Given the description of an element on the screen output the (x, y) to click on. 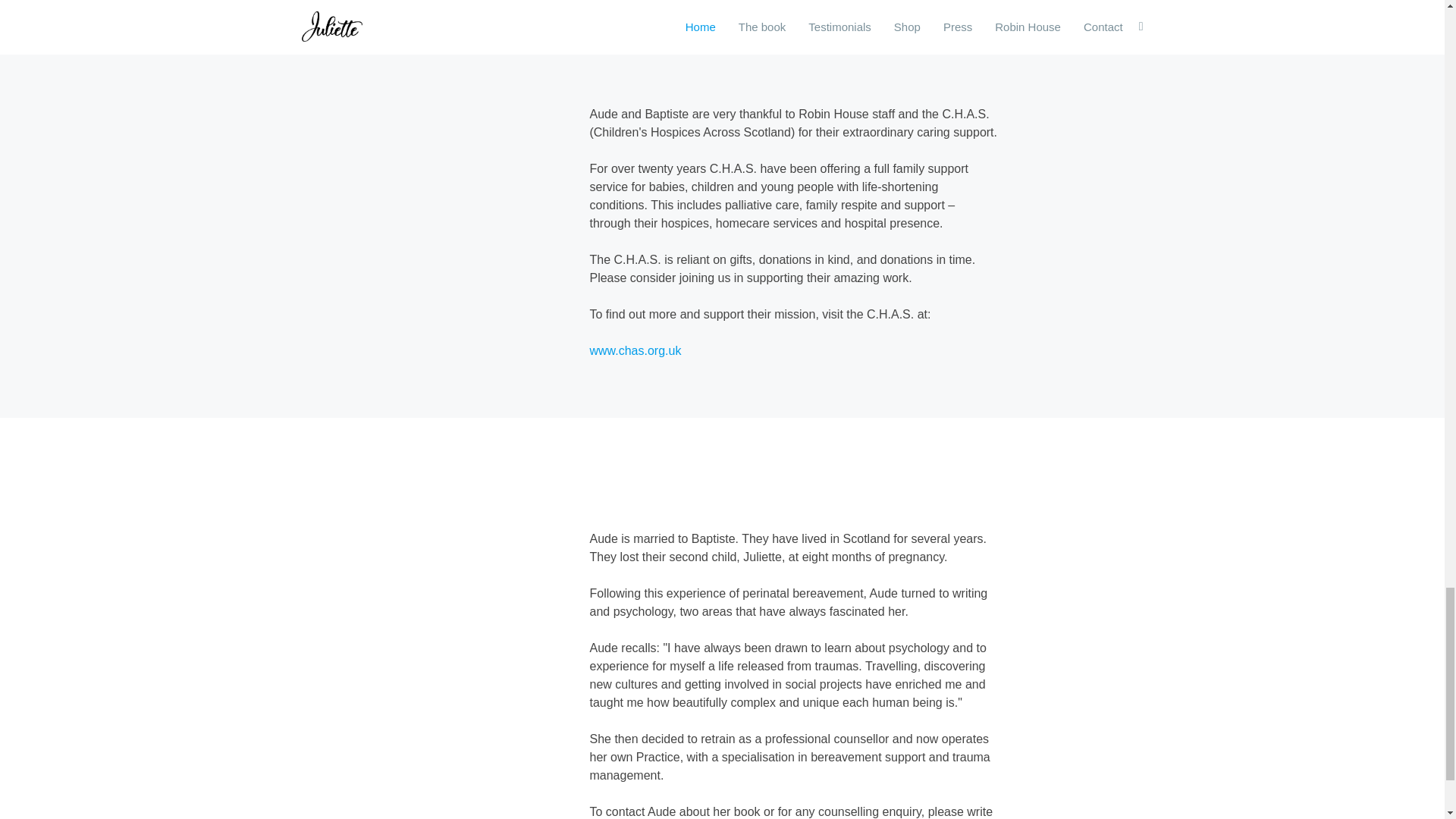
www.chas.org.uk (635, 350)
